Given the description of an element on the screen output the (x, y) to click on. 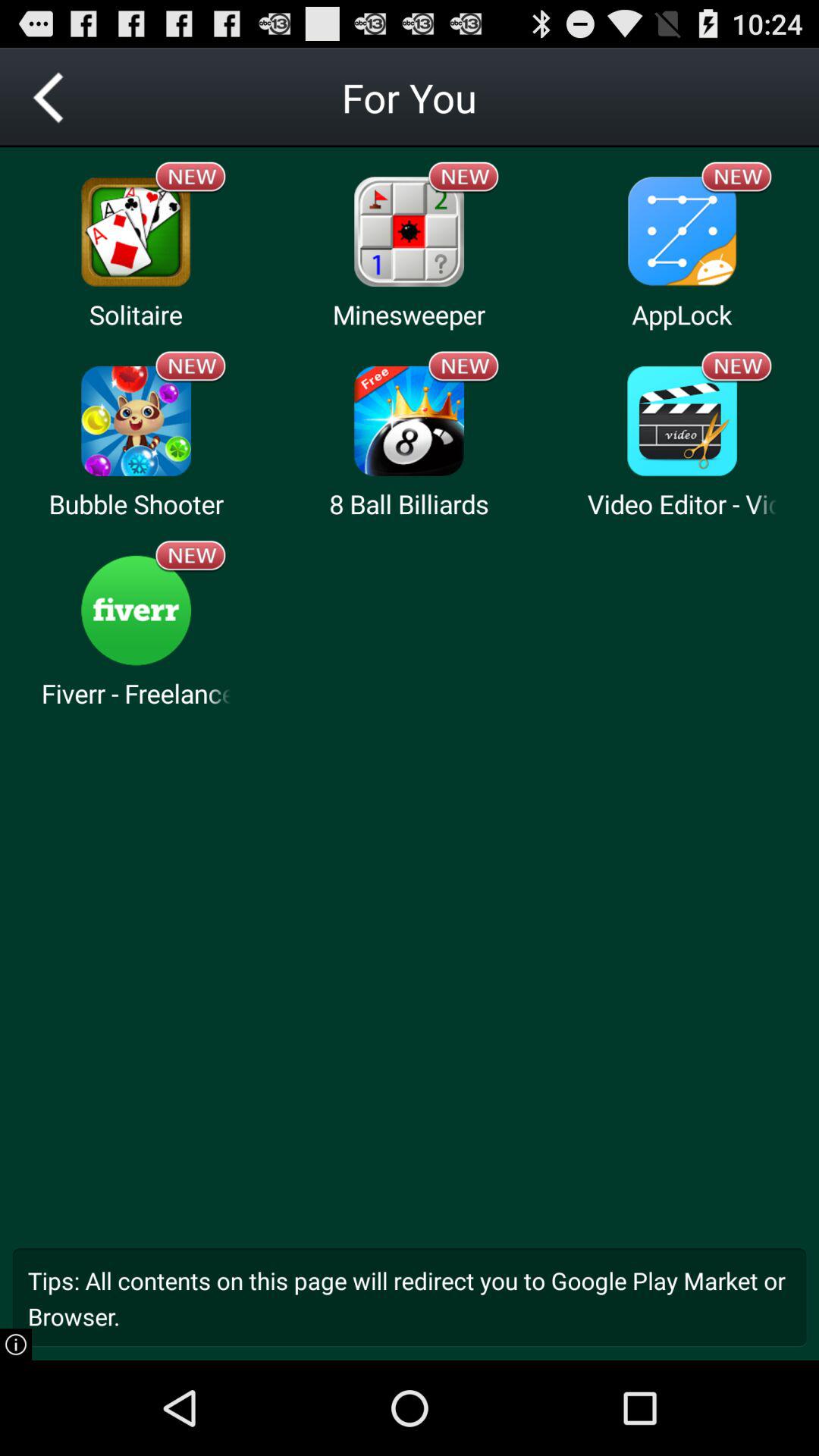
go to this software (136, 610)
